Given the description of an element on the screen output the (x, y) to click on. 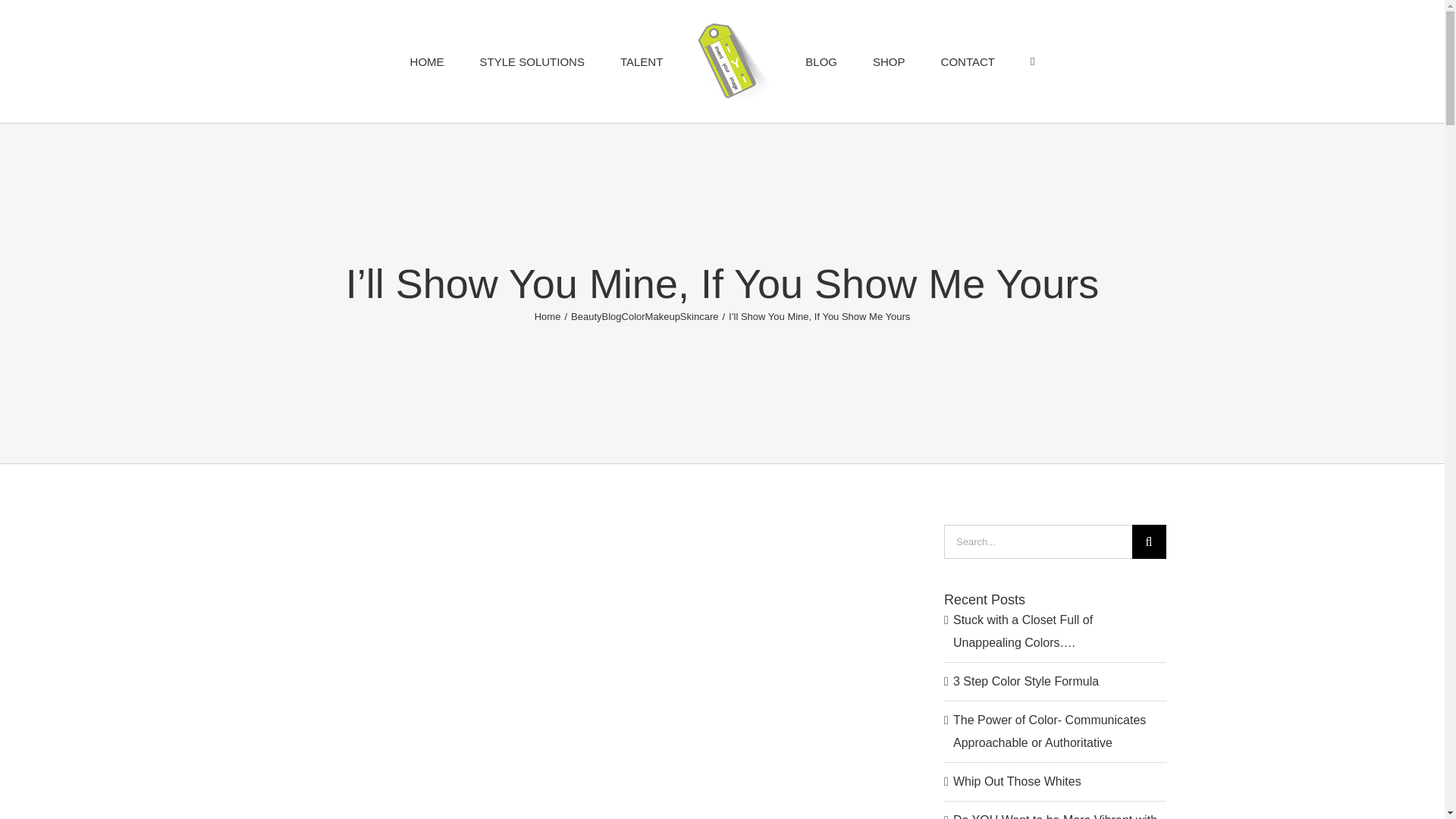
SHOP (889, 61)
HOME (426, 61)
STYLE SOLUTIONS (531, 61)
Makeup (662, 316)
CONTACT (967, 61)
TALENT (640, 61)
BLOG (821, 61)
Color (633, 316)
Skincare (699, 316)
